Given the description of an element on the screen output the (x, y) to click on. 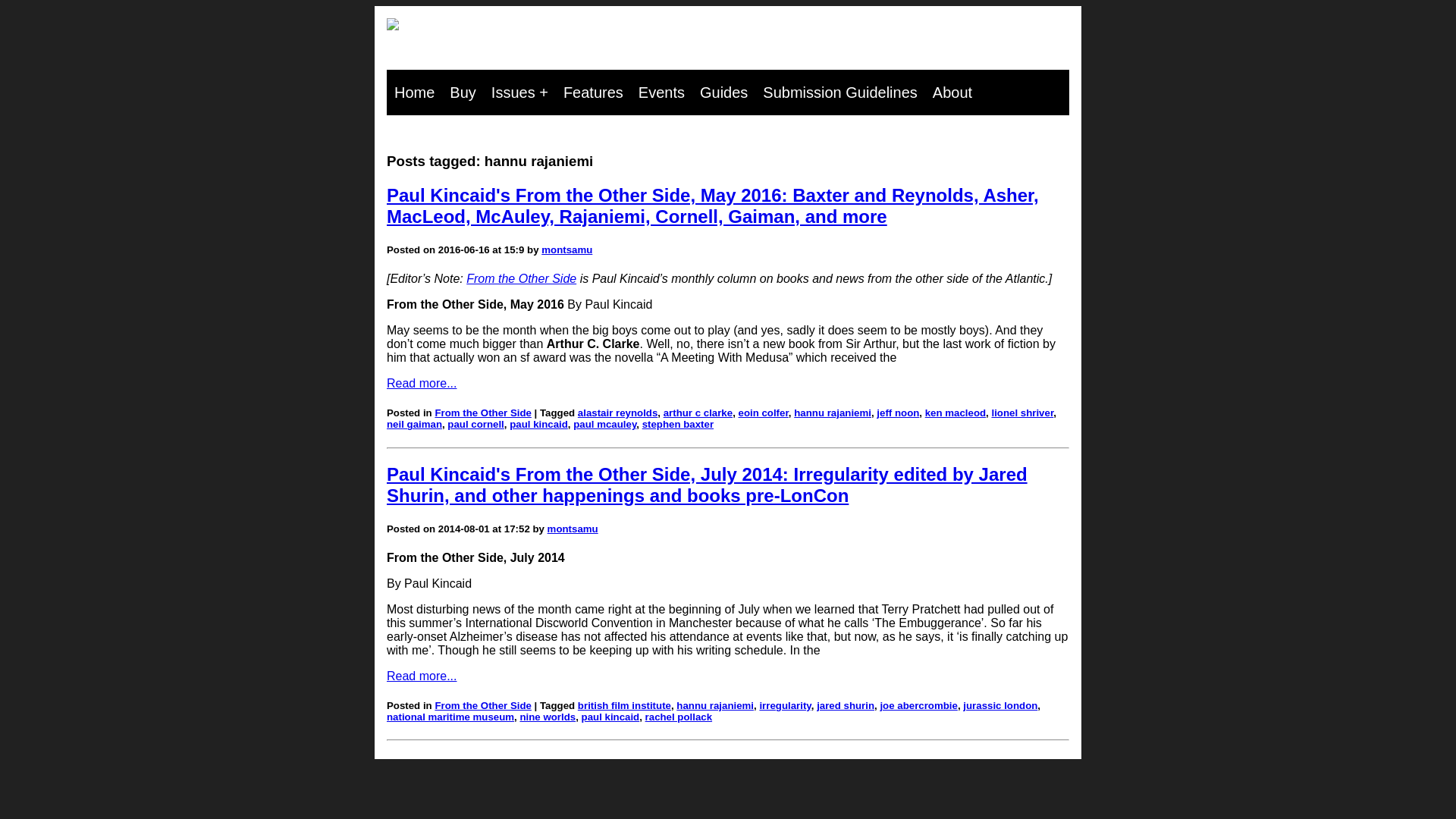
neil gaiman (414, 423)
alastair reynolds (618, 412)
eoin colfer (763, 412)
About (951, 92)
From the Other Side (520, 278)
hannu rajaniemi (831, 412)
ken macleod (954, 412)
paul cornell (474, 423)
arthur c clarke (697, 412)
paul mcauley (604, 423)
Guides (724, 92)
paul kincaid (538, 423)
Submission Guidelines (839, 92)
Issues (519, 92)
Home (414, 92)
